Given the description of an element on the screen output the (x, y) to click on. 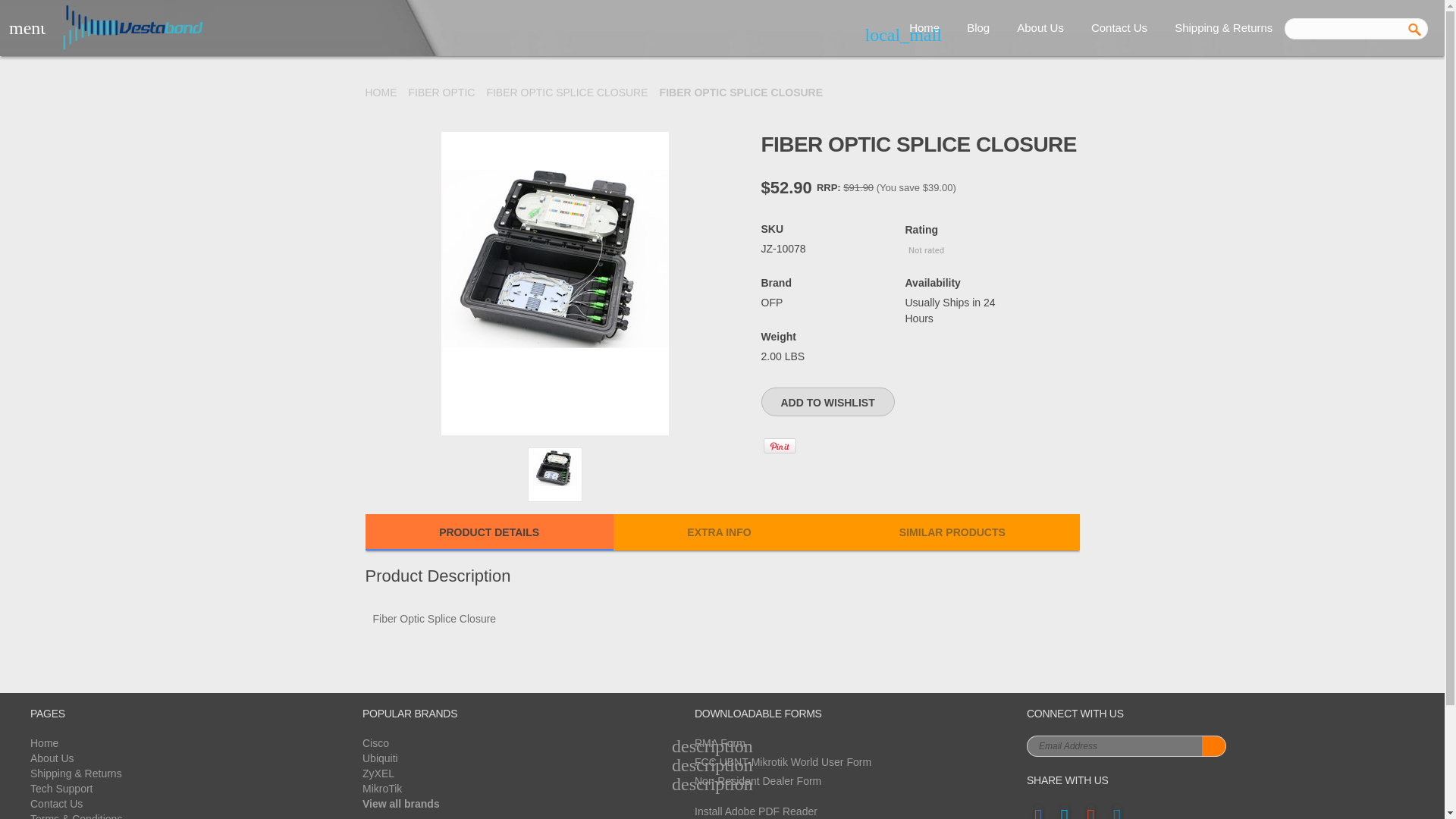
Subscribe (1213, 745)
About Us (1040, 28)
Contact Us (1118, 28)
Email Address (1114, 745)
Add to wishlist (828, 401)
Home (924, 28)
Blog (978, 28)
